Given the description of an element on the screen output the (x, y) to click on. 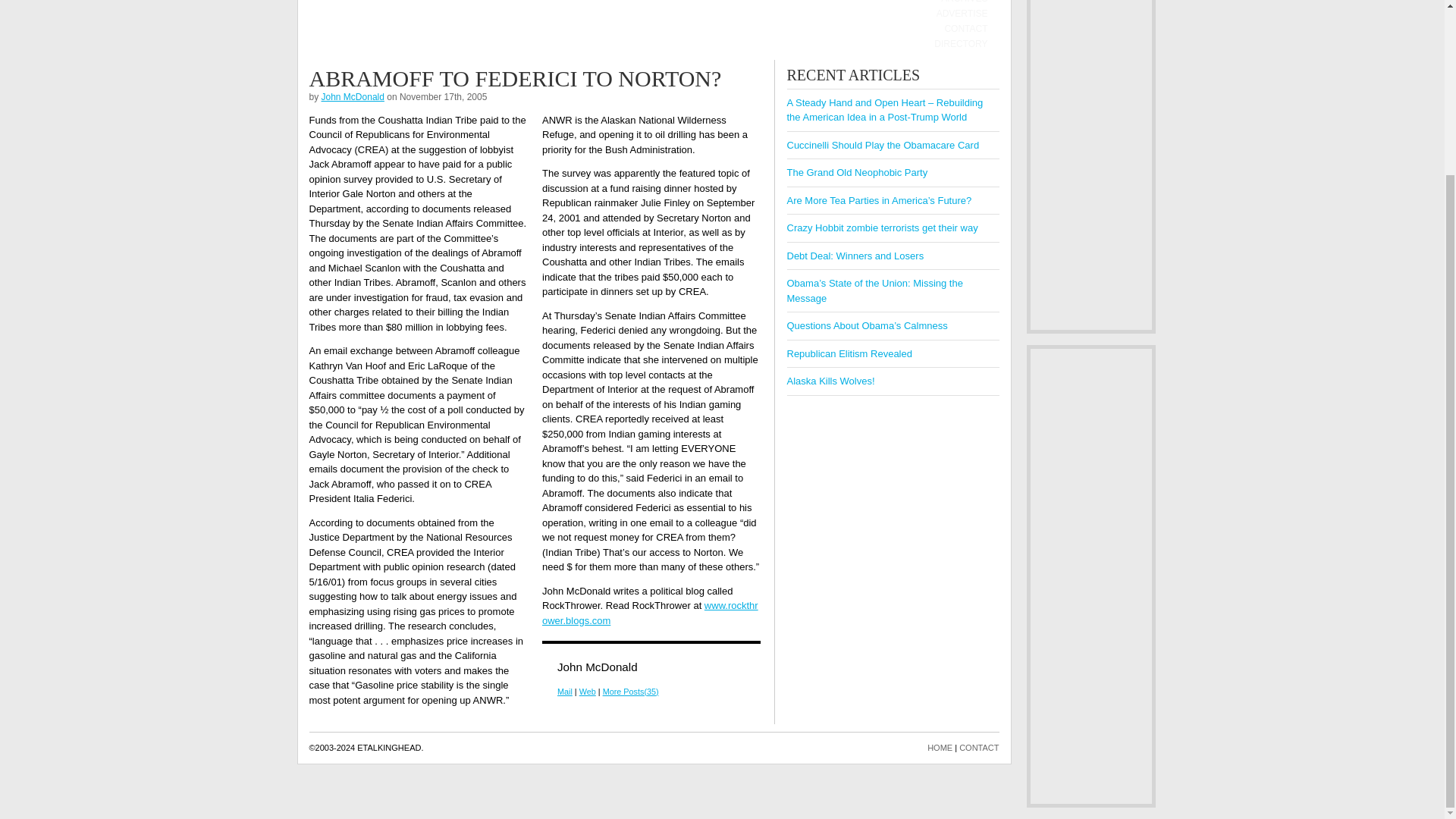
CONTACT (965, 28)
HOME (939, 747)
DIRECTORY (960, 43)
Cuccinelli Should Play the Obamacare Card (883, 144)
Mail (564, 691)
CONTACT (978, 747)
Posts by John McDonald (352, 95)
More Posts By John McDonald (630, 691)
www.rockthrower.blogs.com (649, 612)
Alaska Kills Wolves! (831, 380)
